Given the description of an element on the screen output the (x, y) to click on. 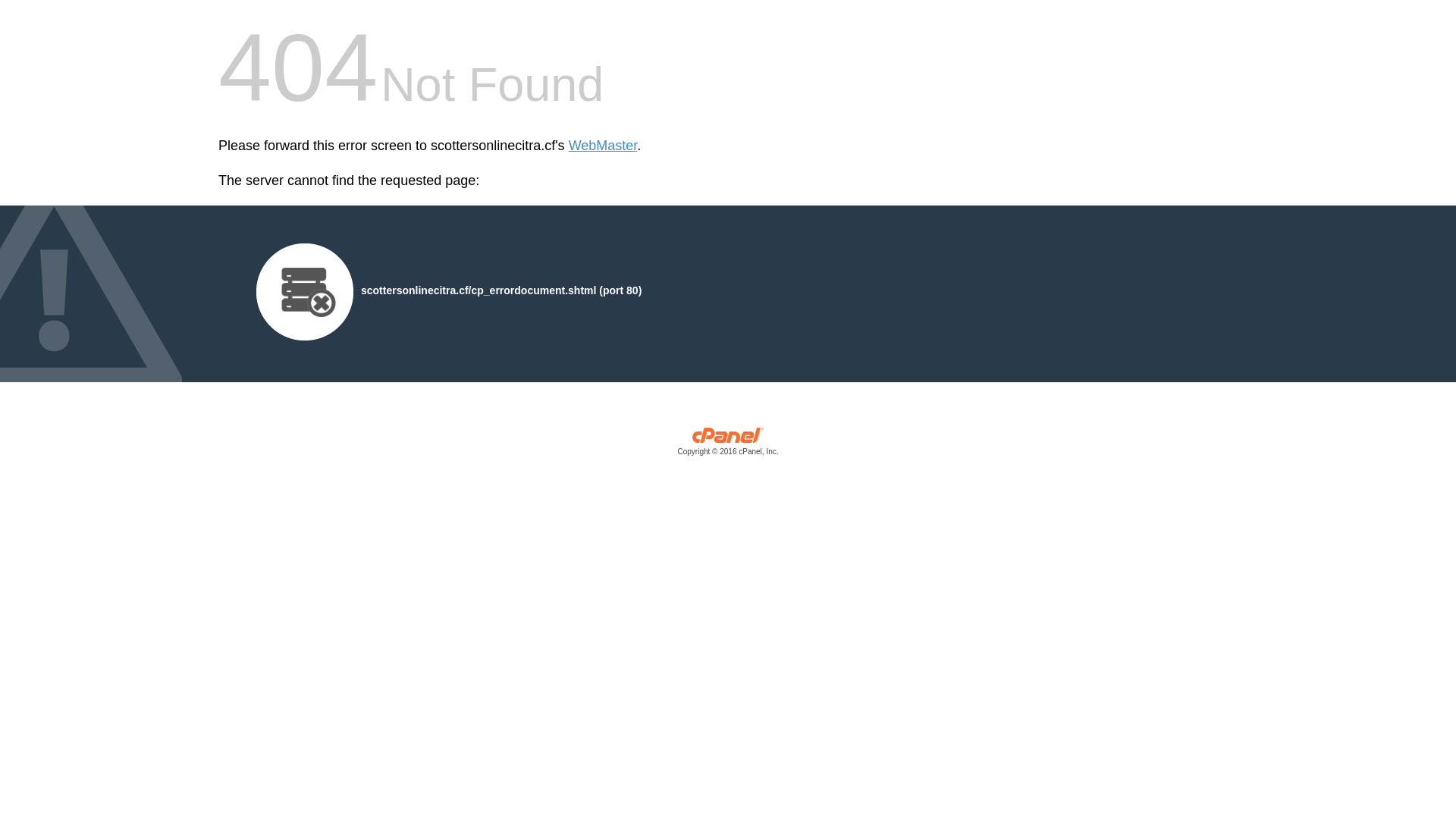
WebMaster Element type: text (602, 145)
